Given the description of an element on the screen output the (x, y) to click on. 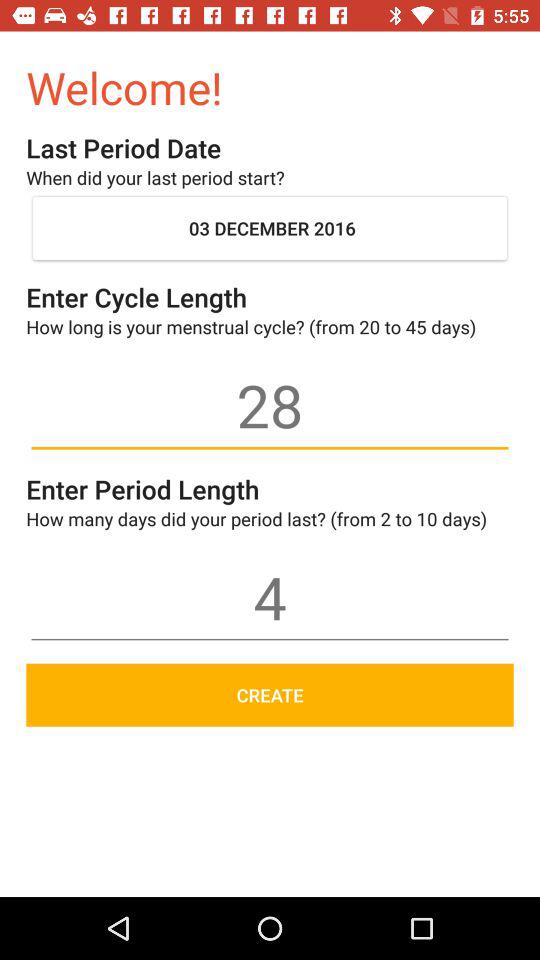
flip until the 28 icon (269, 405)
